Given the description of an element on the screen output the (x, y) to click on. 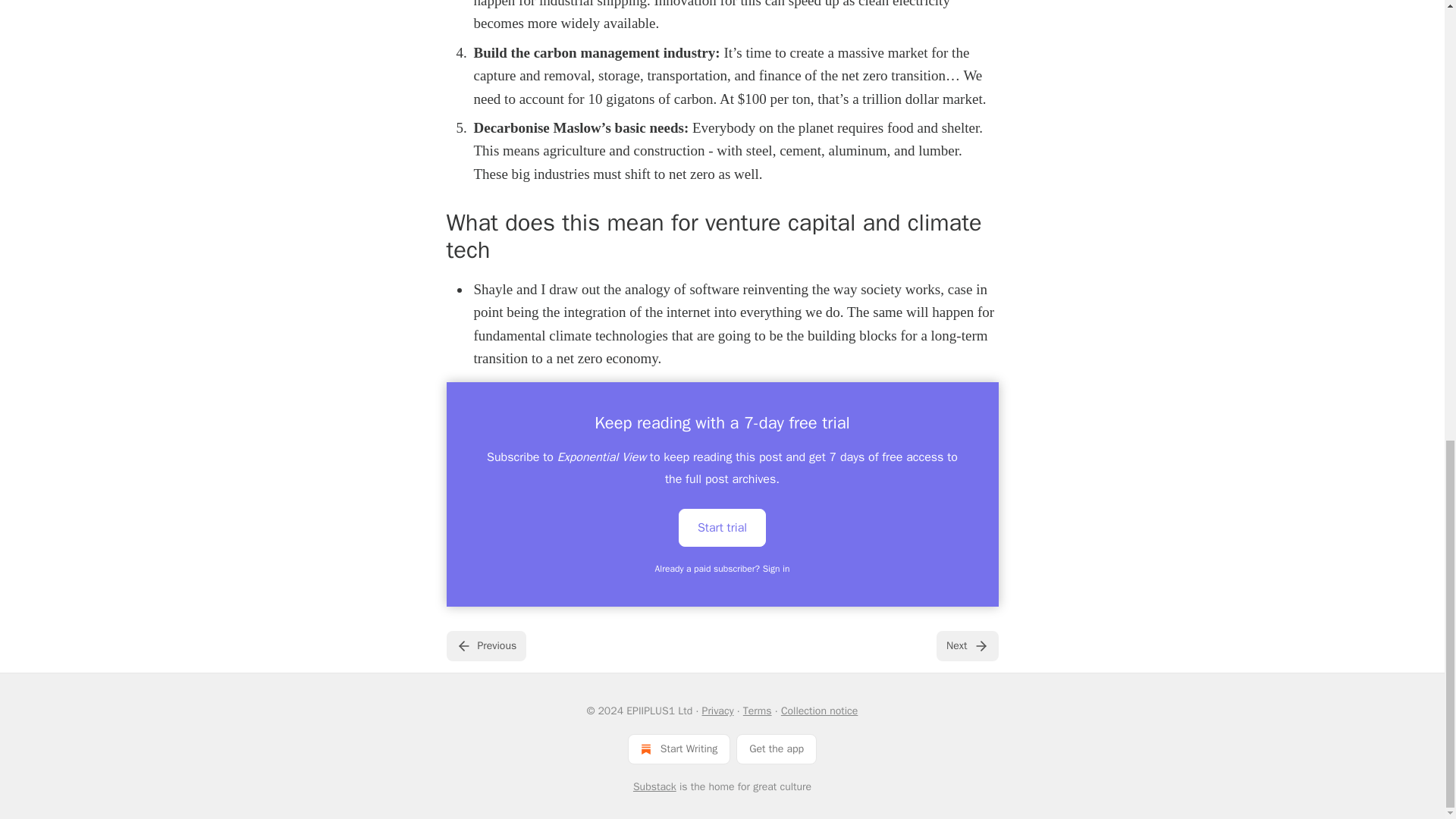
Privacy (717, 710)
Already a paid subscriber? Sign in (722, 568)
Collection notice (818, 710)
Start Writing (678, 748)
Start trial (721, 527)
Substack (655, 786)
Get the app (776, 748)
Terms (756, 710)
Next (966, 645)
Previous (485, 645)
Start trial (721, 526)
